Given the description of an element on the screen output the (x, y) to click on. 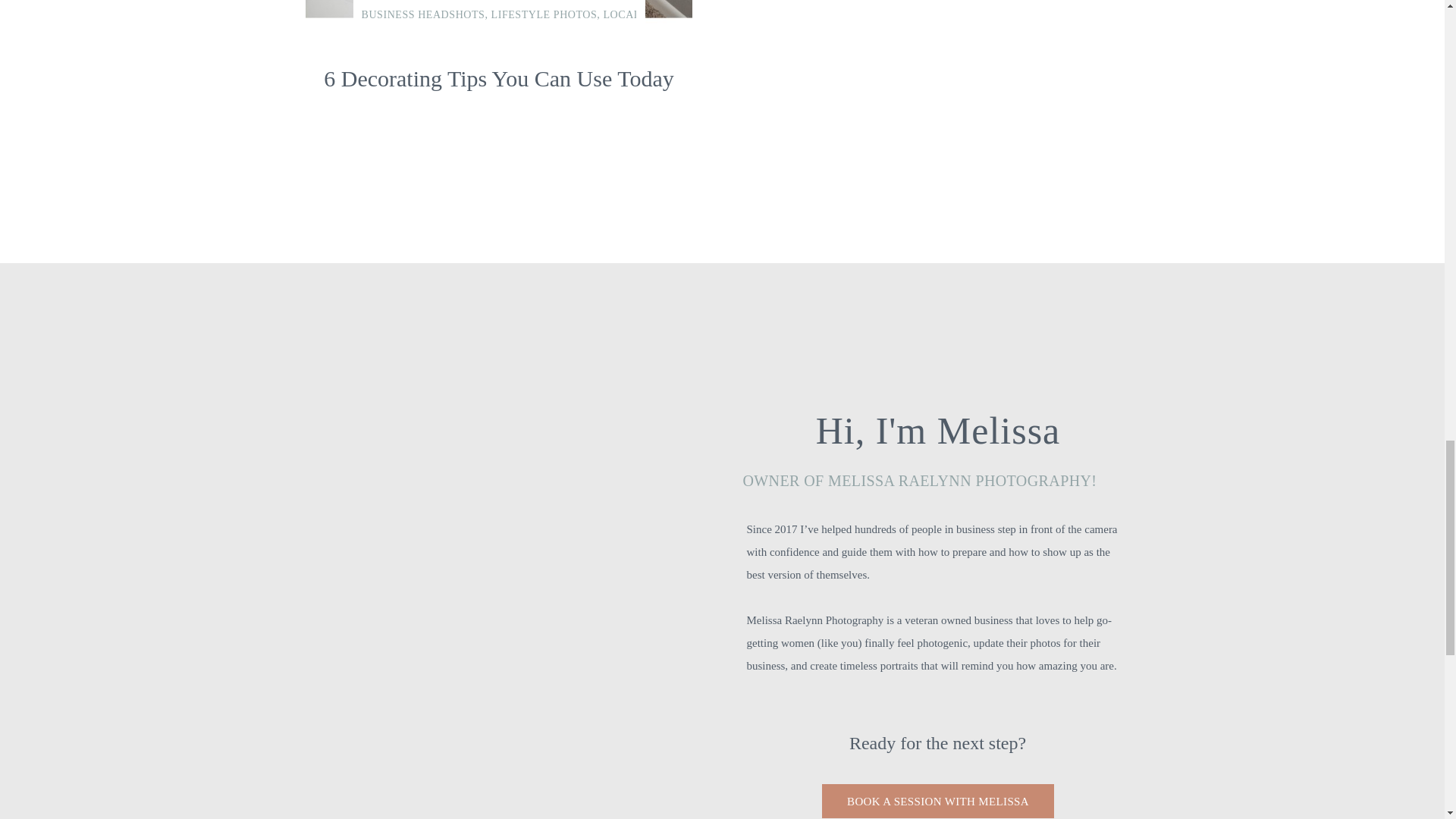
6 Decorating Tips You Can Use Today (498, 78)
BUSINESS HEADSHOTS (422, 14)
UPCOMING HEADSHOT SPECIAL: SEPTEMBER 13, 2024 (722, 479)
LIFESTYLE PHOTOS (544, 14)
LOCAL BUSINESS (649, 14)
6 Decorating Tips You Can Use Today (497, 12)
BOOK A SESSION WITH MELISSA (937, 801)
